Given the description of an element on the screen output the (x, y) to click on. 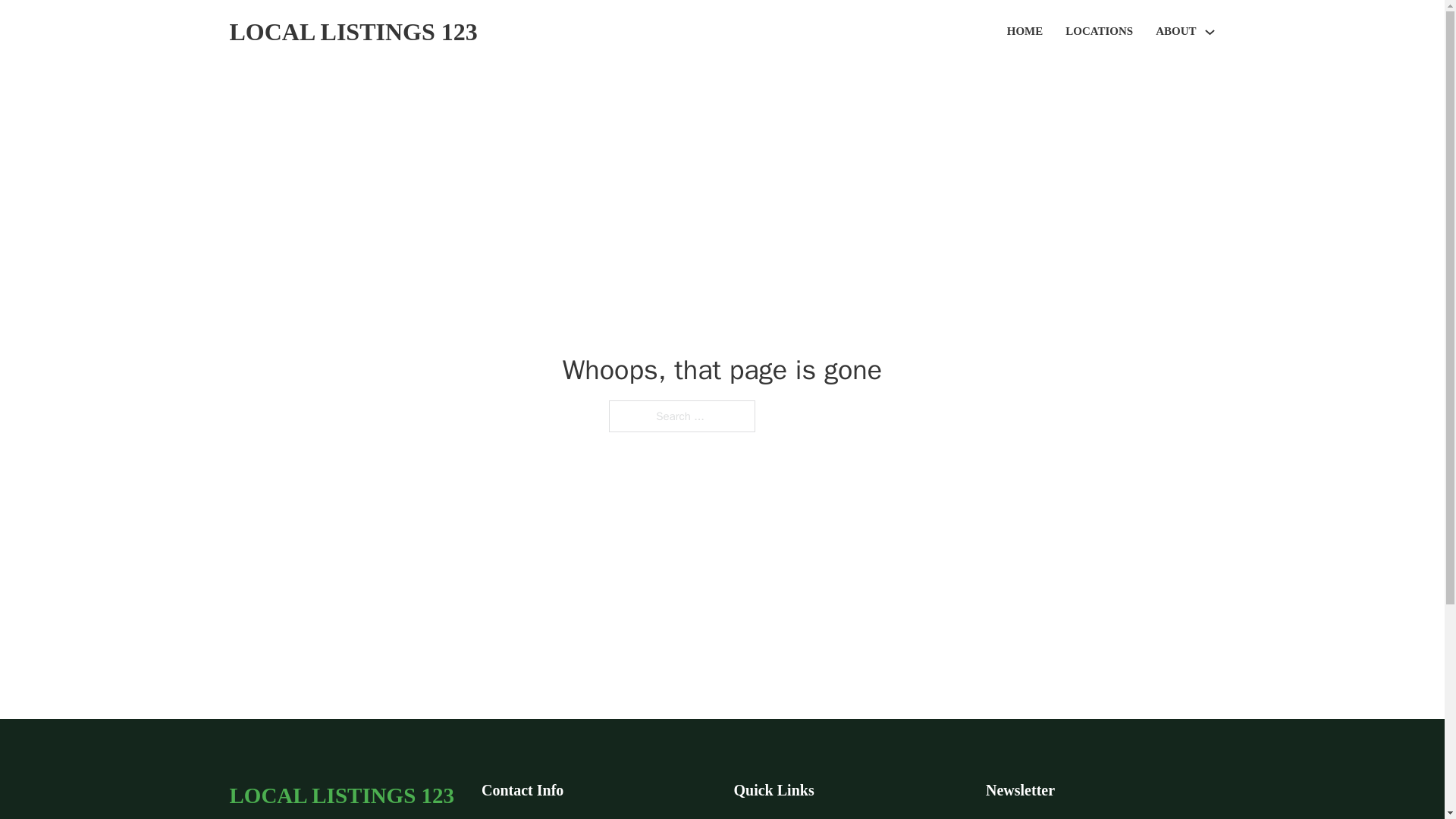
HOME (1025, 31)
LOCAL LISTINGS 123 (352, 31)
LOCAL LISTINGS 123 (341, 795)
LOCATIONS (1098, 31)
